Given the description of an element on the screen output the (x, y) to click on. 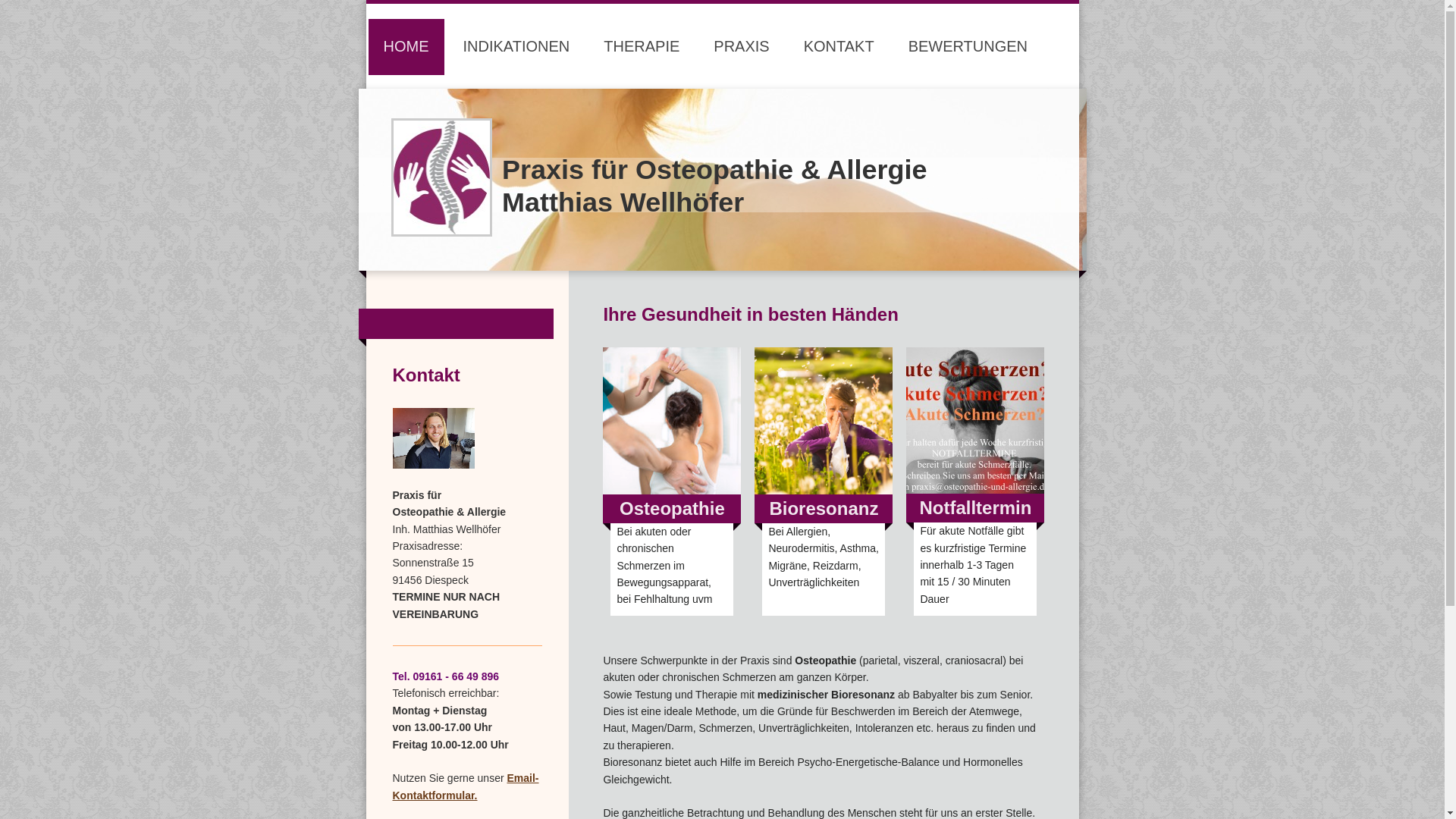
HOME Element type: text (406, 46)
THERAPIE Element type: text (641, 46)
Email-Kontaktformular. Element type: text (465, 785)
KONTAKT Element type: text (838, 46)
INDIKATIONEN Element type: text (515, 46)
BEWERTUNGEN Element type: text (967, 46)
PRAXIS Element type: text (741, 46)
